Given the description of an element on the screen output the (x, y) to click on. 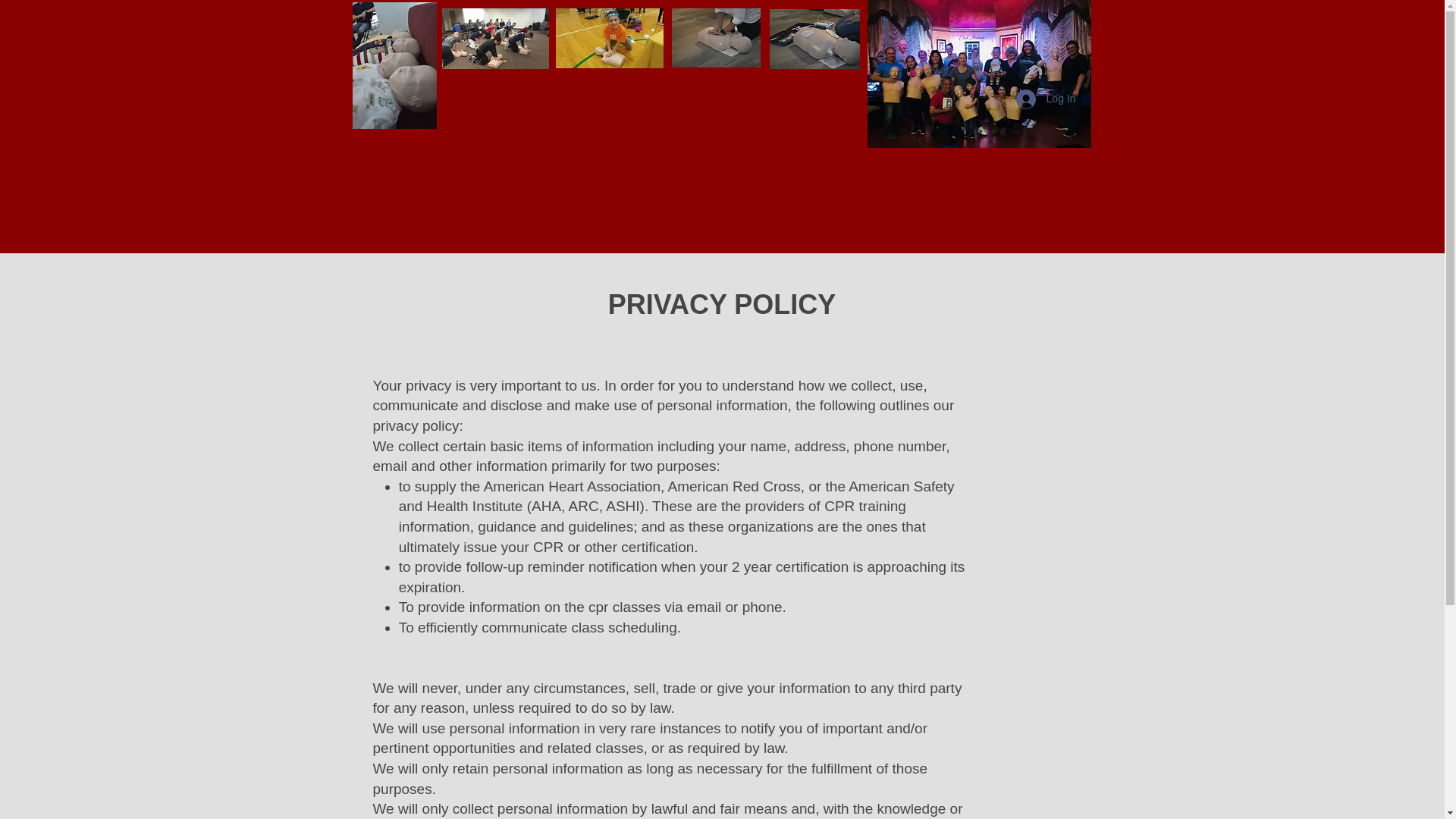
Log In (1046, 99)
